Given the description of an element on the screen output the (x, y) to click on. 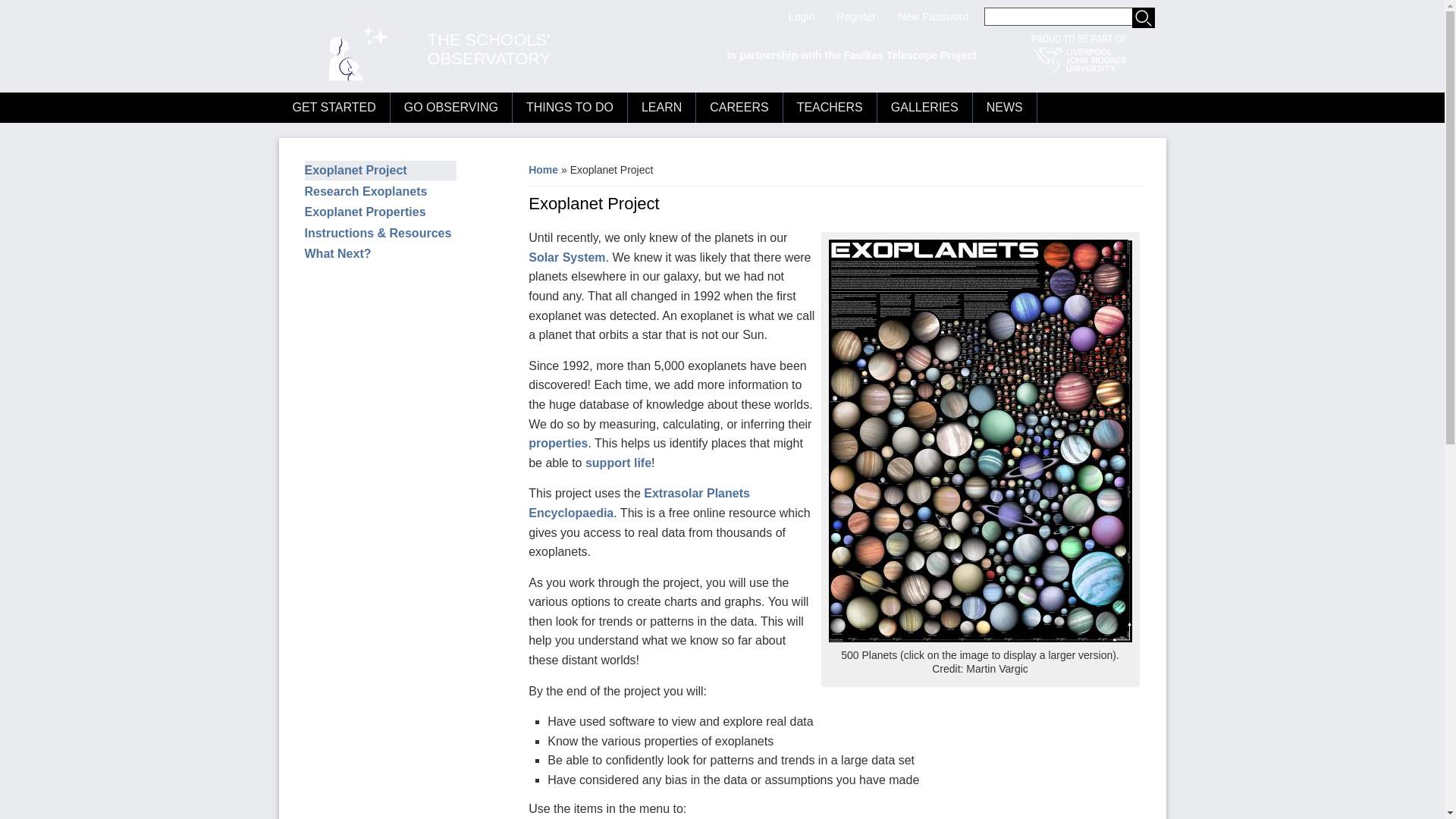
THINGS TO DO (569, 107)
Login (801, 16)
GET STARTED (334, 107)
CAREERS (739, 107)
Home (354, 49)
Search (1142, 17)
Resets your password (932, 16)
Register (855, 16)
LEARN (661, 107)
New Password (932, 16)
